Given the description of an element on the screen output the (x, y) to click on. 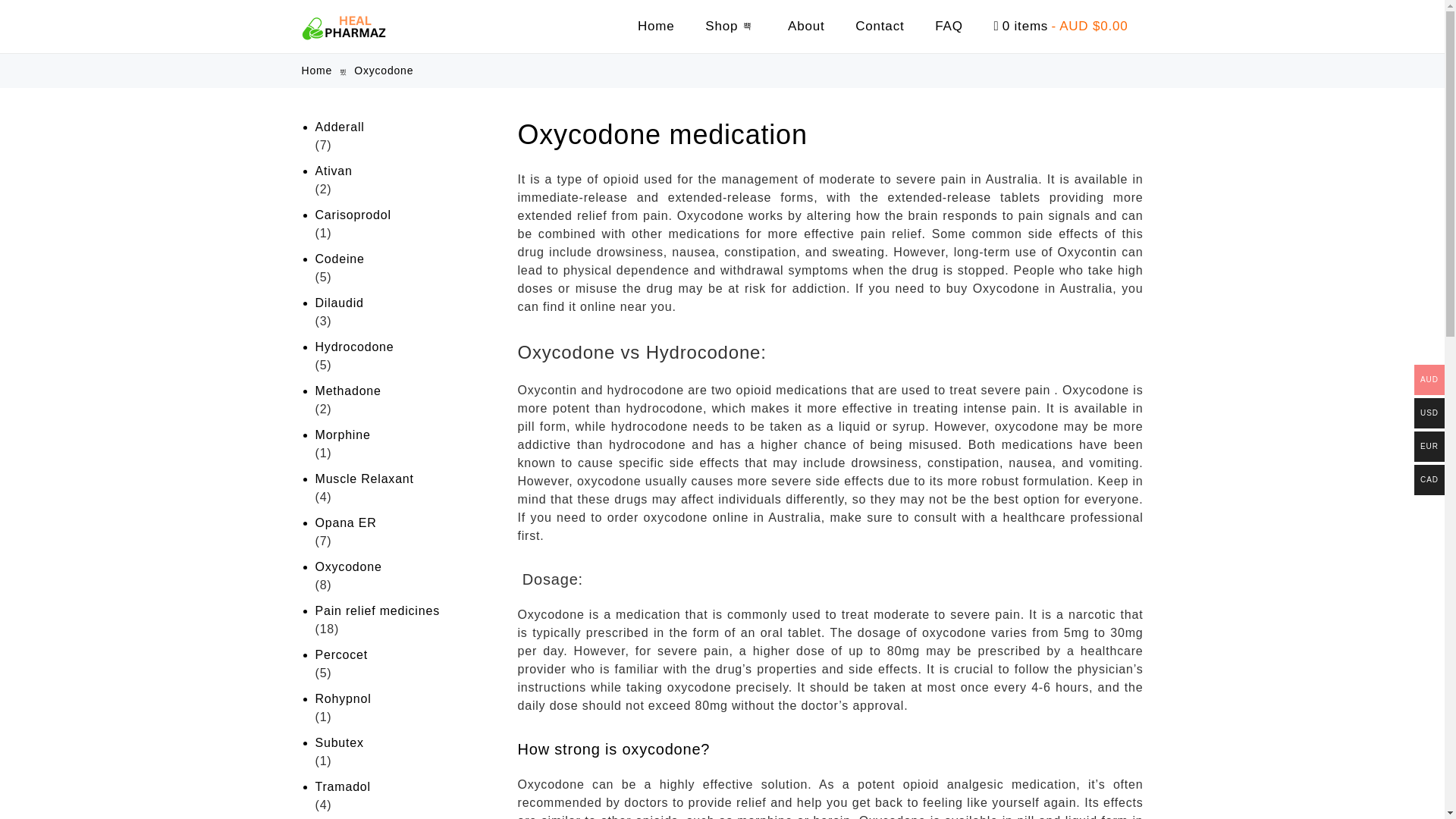
Oxycodone (405, 566)
Contact (879, 26)
Start shopping (1060, 26)
About (806, 26)
Shop (730, 26)
Home (317, 70)
Methadone (405, 391)
Home (656, 26)
Ativan (405, 171)
Morphine (405, 434)
